Given the description of an element on the screen output the (x, y) to click on. 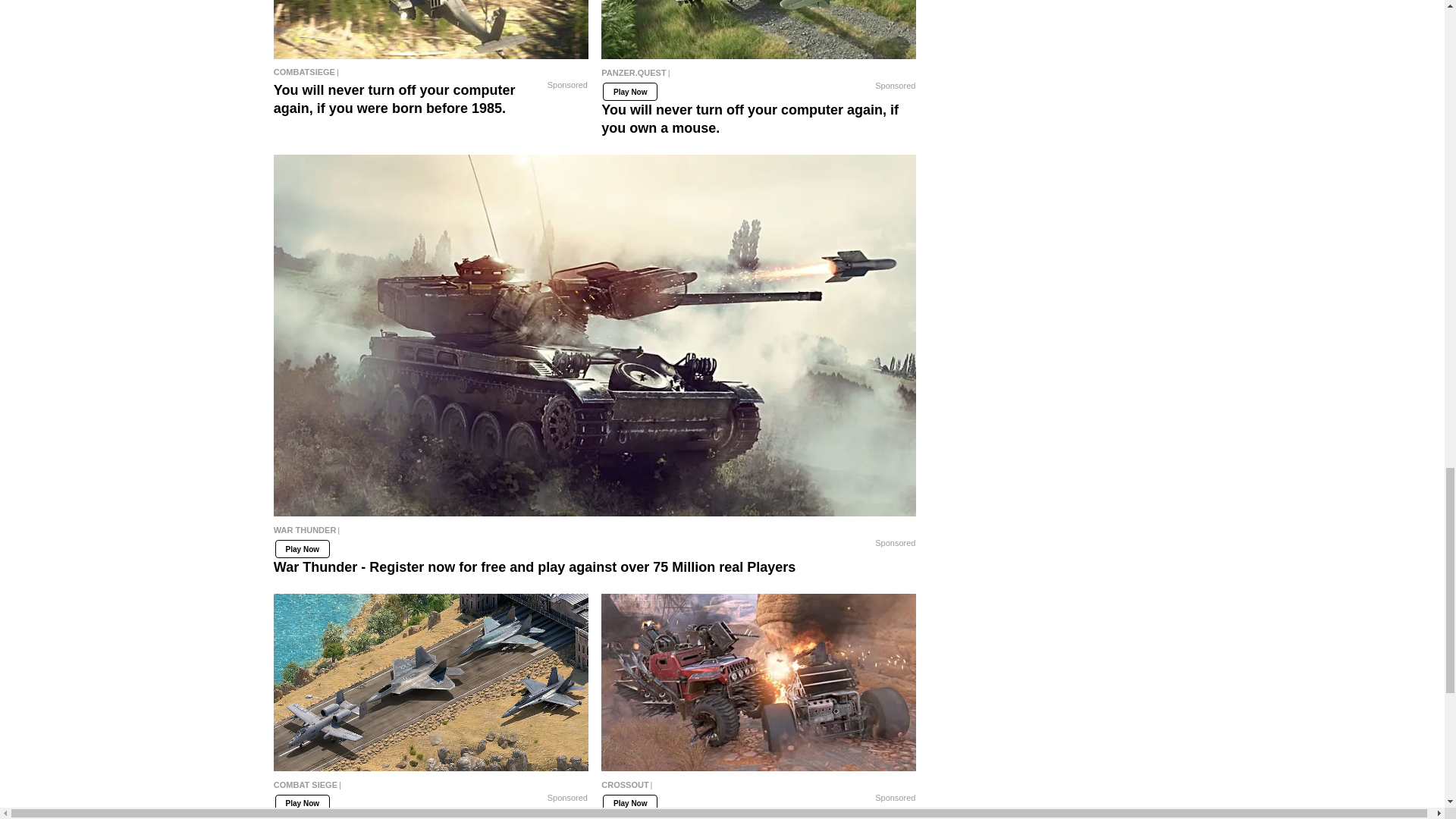
Crossout 2.0: Supercharged (758, 682)
Crossout 2.0: Supercharged (758, 788)
Sponsored (567, 85)
